Given the description of an element on the screen output the (x, y) to click on. 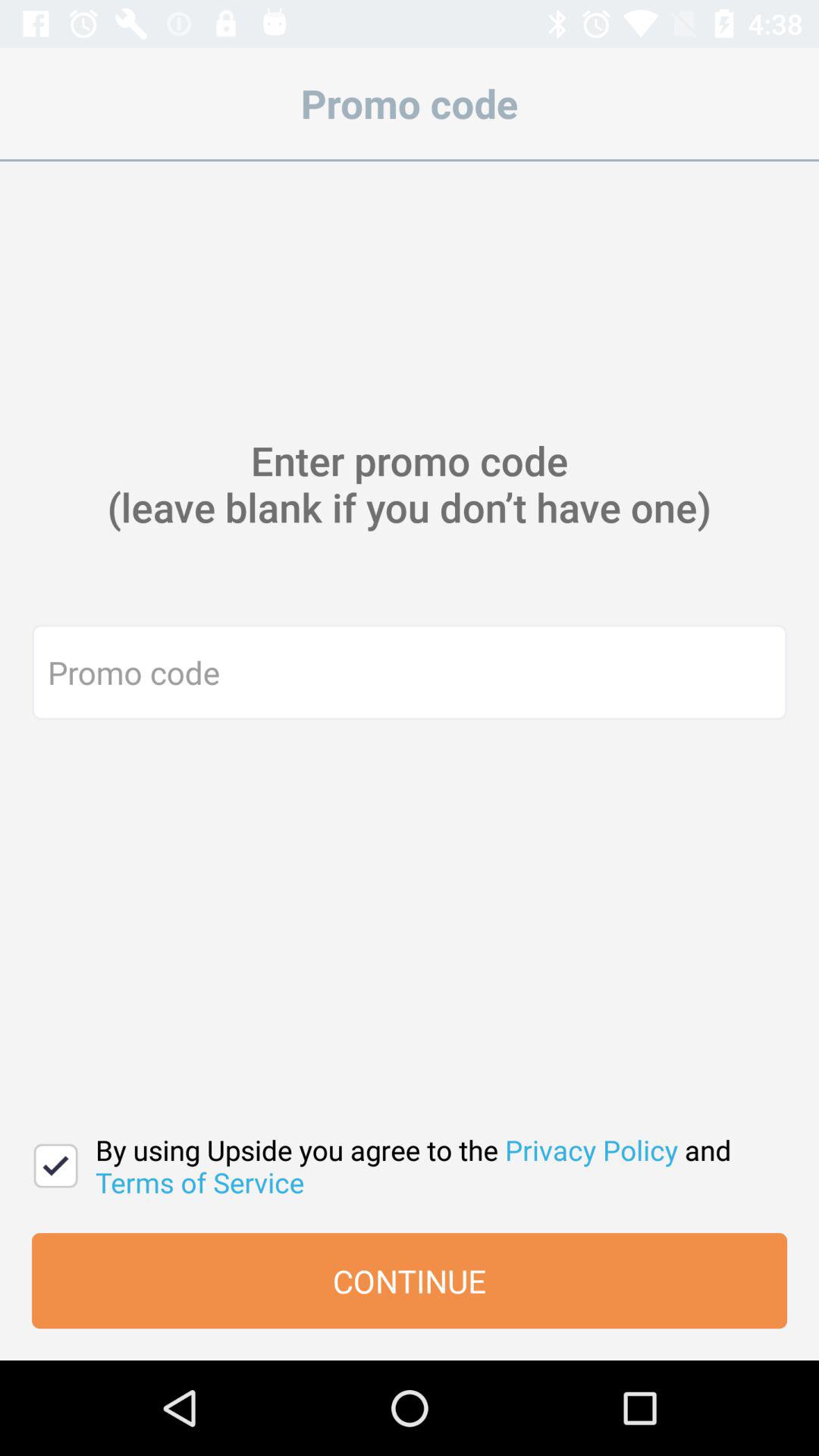
choose the icon next to the by using upside icon (55, 1165)
